Given the description of an element on the screen output the (x, y) to click on. 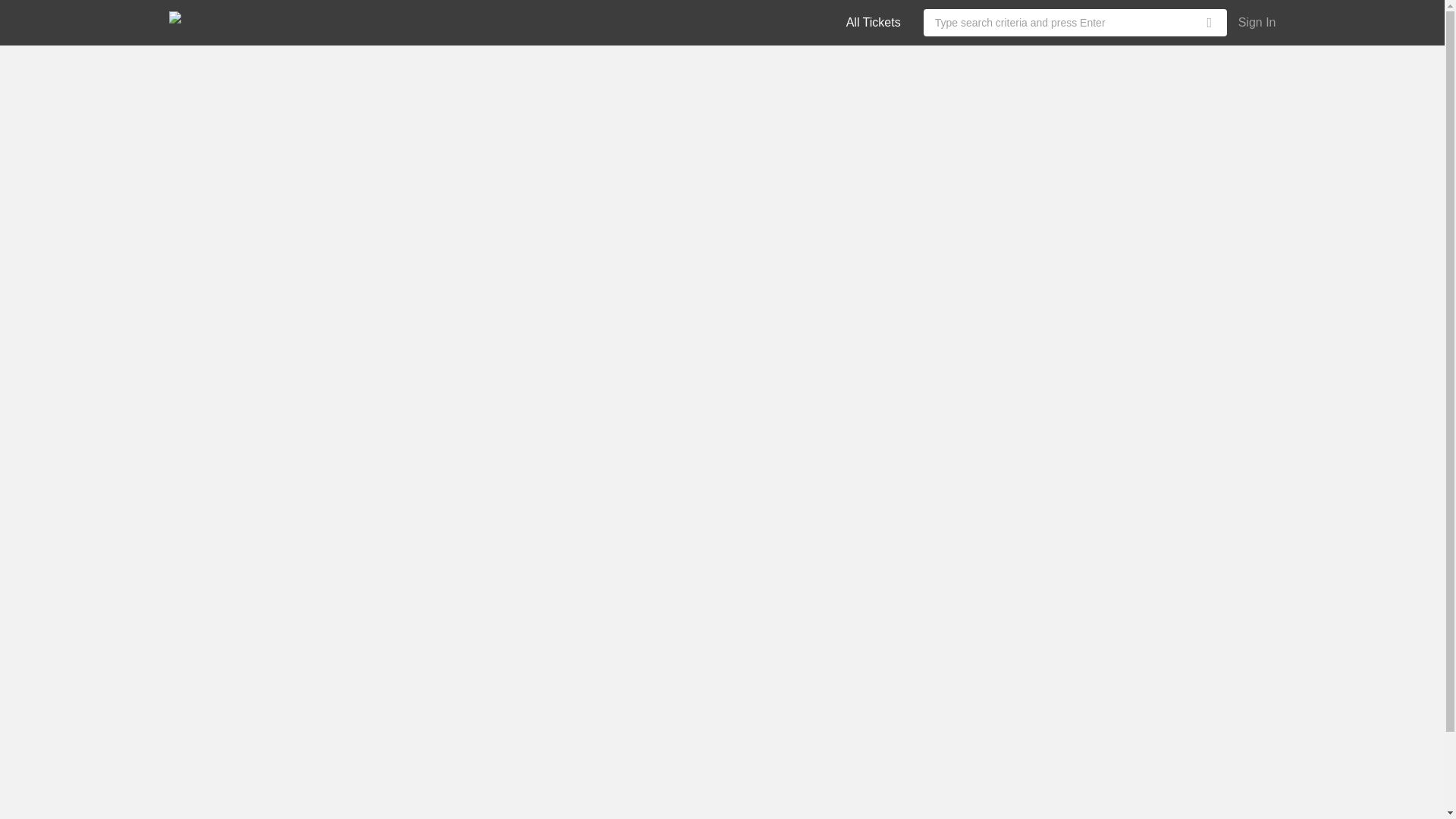
All Tickets (873, 21)
